Given the description of an element on the screen output the (x, y) to click on. 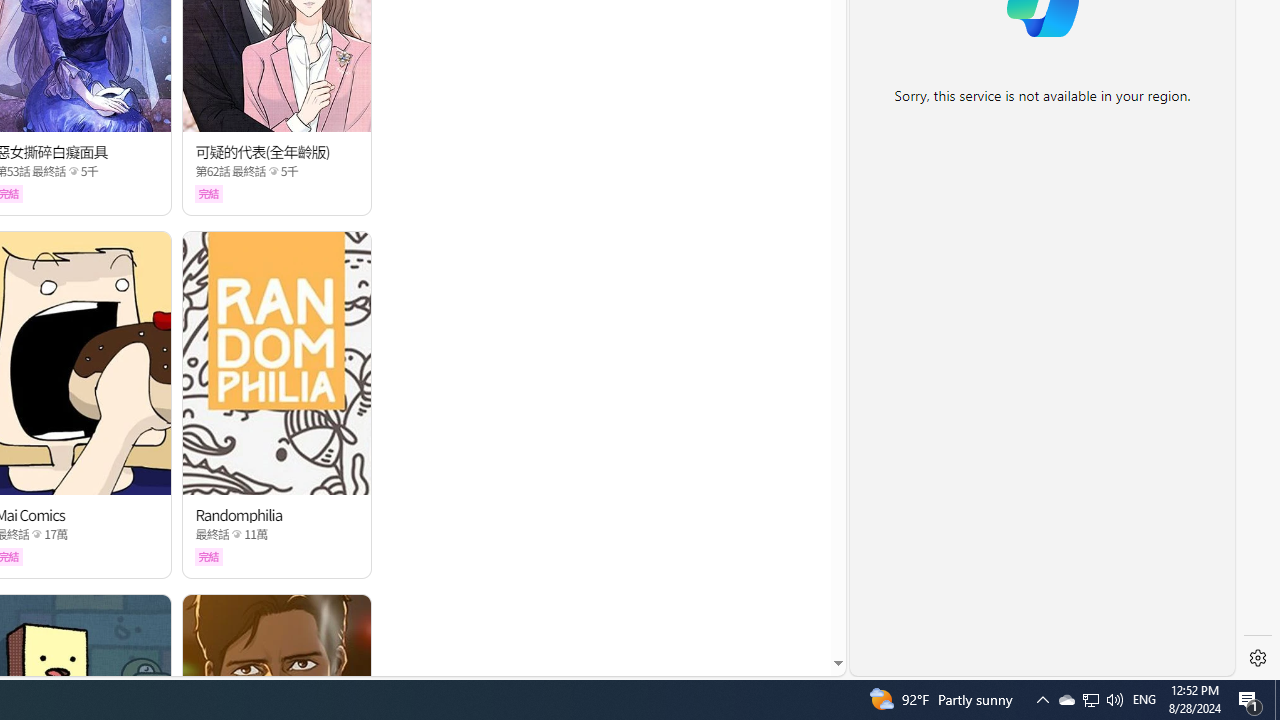
Class: thumb_img (277, 363)
Class: epicon_starpoint (237, 534)
Settings (1258, 658)
